Given the description of an element on the screen output the (x, y) to click on. 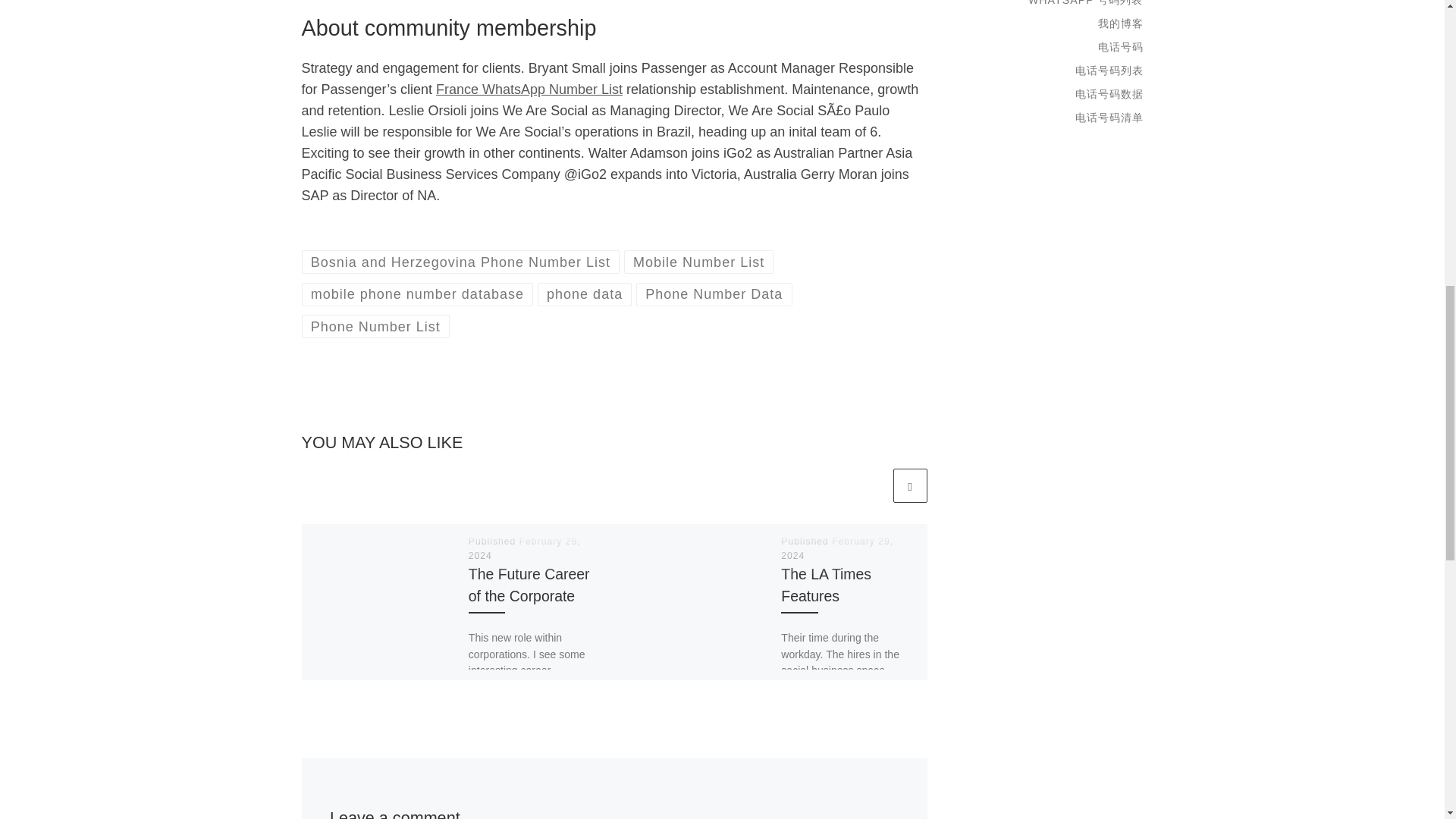
February 29, 2024 (836, 548)
Bosnia and Herzegovina Phone Number List (460, 261)
The LA Times Features (825, 584)
Phone Number Data (714, 294)
phone data (584, 294)
Next related articles (910, 485)
View all posts in Bosnia and Herzegovina Phone Number List (460, 261)
Phone Number List (375, 326)
Mobile Number List (699, 261)
View all posts in mobile phone number database (417, 294)
View all posts in Phone Number List (375, 326)
France WhatsApp Number List (529, 89)
Previous related articles (872, 485)
The Future Career of the Corporate (528, 584)
February 29, 2024 (524, 548)
